Given the description of an element on the screen output the (x, y) to click on. 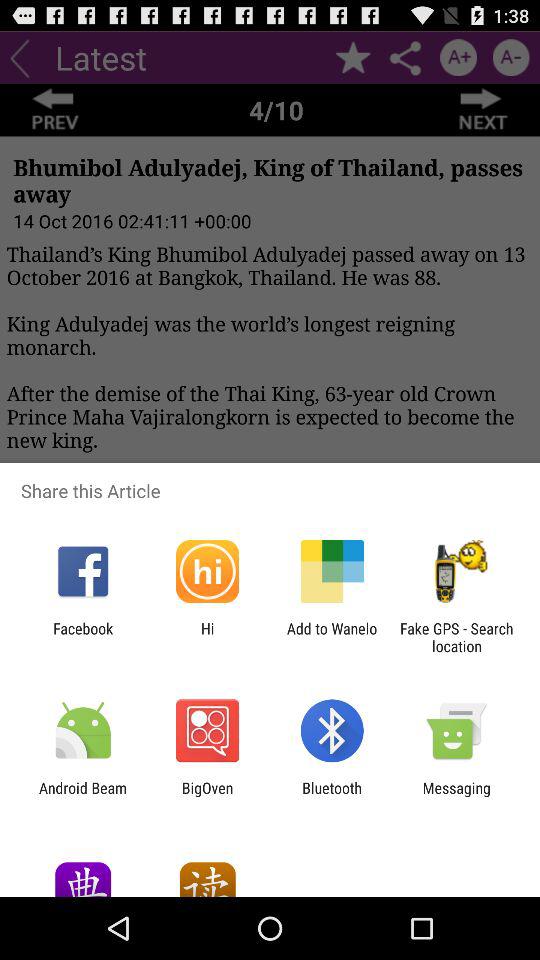
turn on icon to the right of the bluetooth item (456, 796)
